Given the description of an element on the screen output the (x, y) to click on. 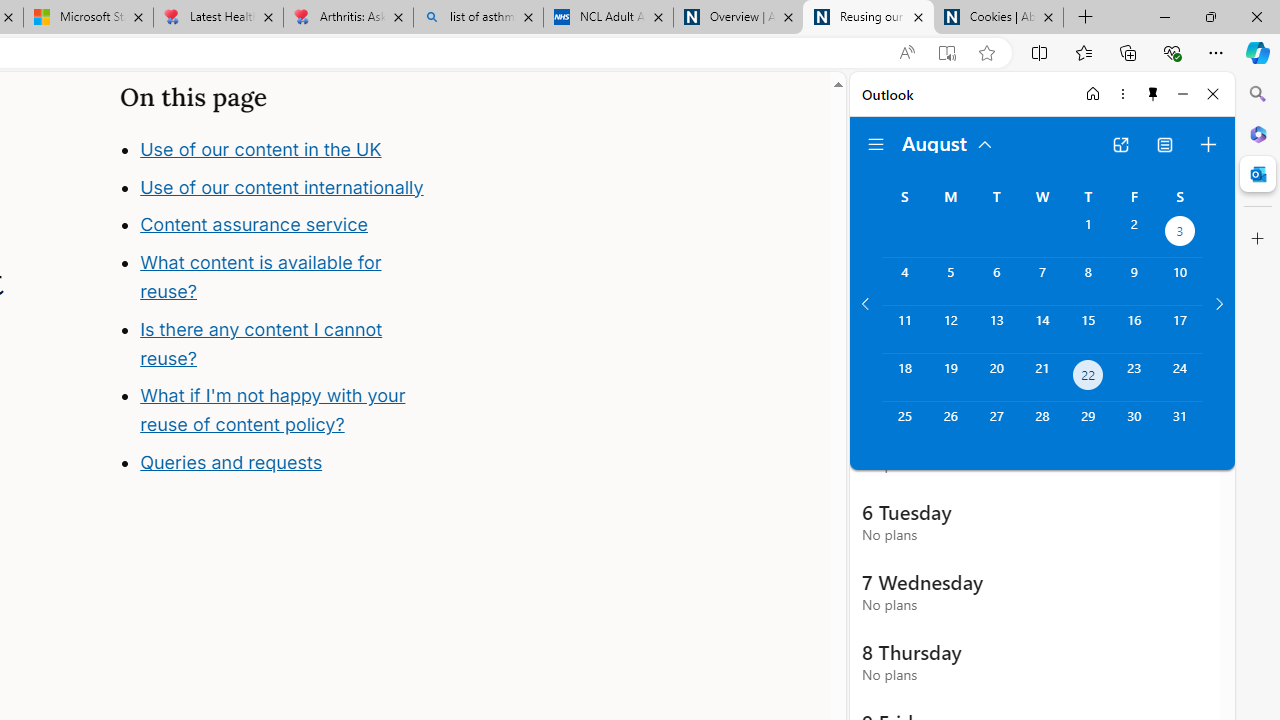
Monday, August 19, 2024.  (950, 377)
Saturday, August 10, 2024.  (1180, 281)
Wednesday, August 7, 2024.  (1042, 281)
Saturday, August 17, 2024.  (1180, 329)
Unpin side pane (1153, 93)
Tuesday, August 6, 2024.  (996, 281)
Reusing our content | NICE (868, 17)
Tuesday, August 27, 2024.  (996, 425)
Use of our content internationally (298, 230)
Monday, August 5, 2024.  (950, 281)
